Given the description of an element on the screen output the (x, y) to click on. 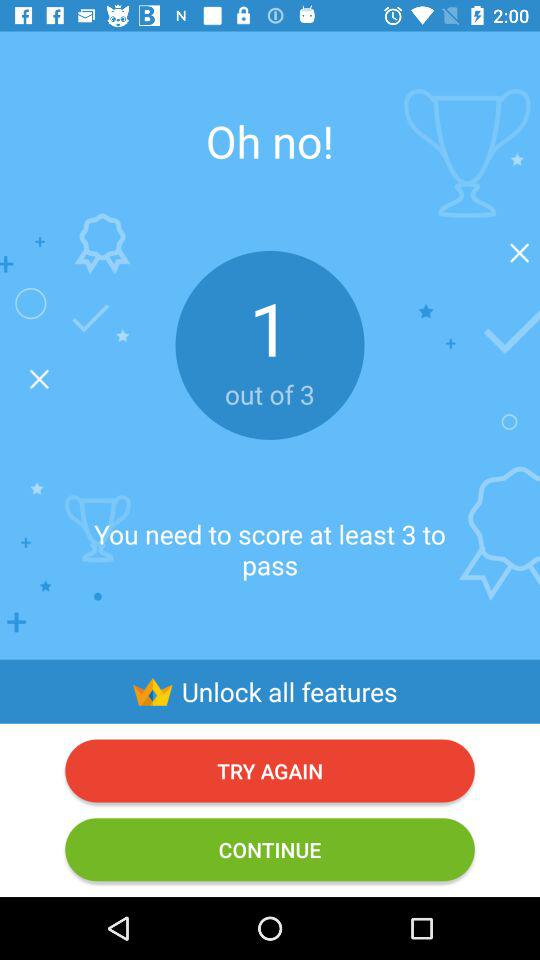
choose icon above the continue icon (269, 770)
